Given the description of an element on the screen output the (x, y) to click on. 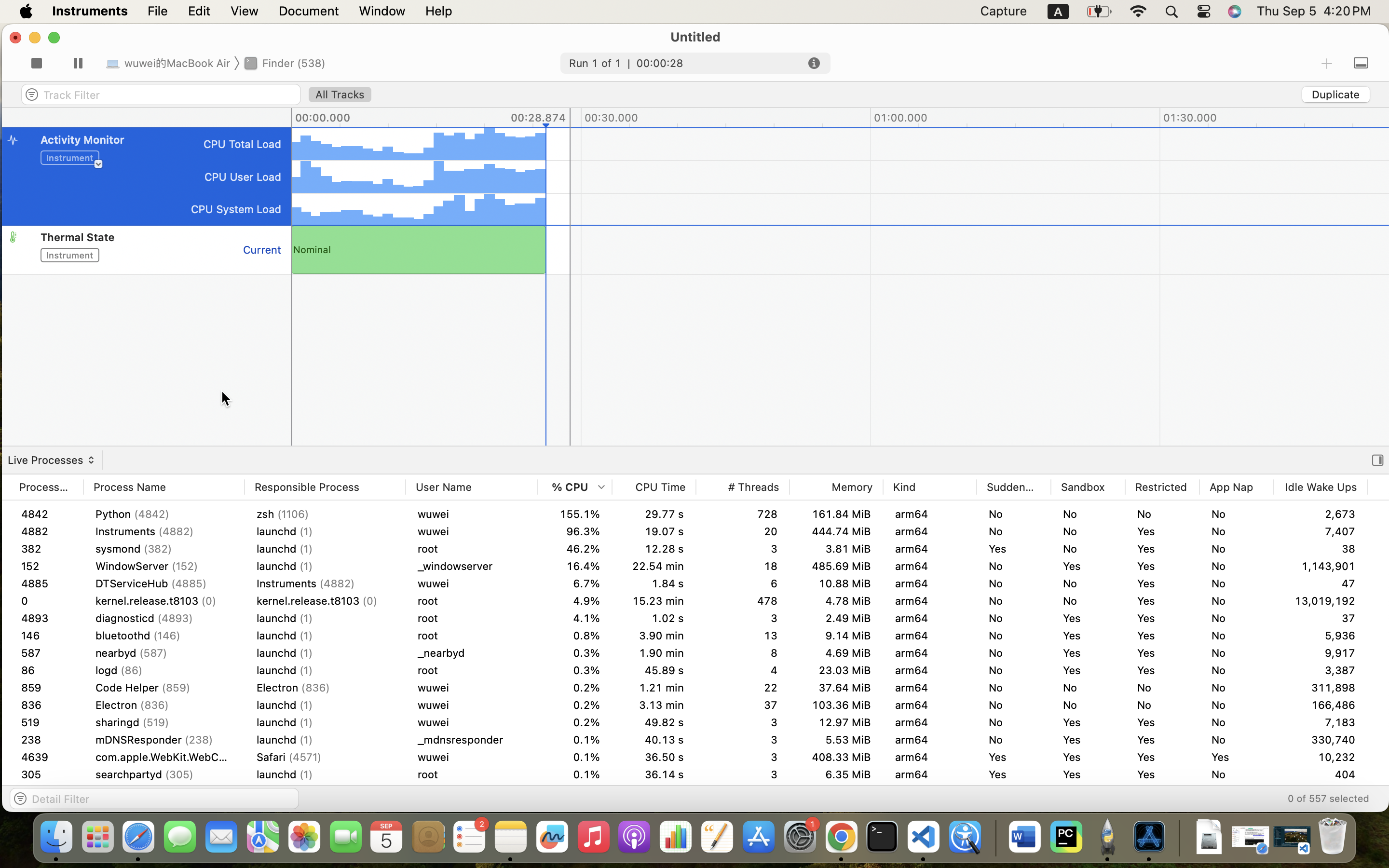
9.24 MiB Element type: AXStaticText (835, 635)
2 Element type: AXButton (36, 66)
Untitled Element type: AXStaticText (695, 36)
3,473 Element type: AXStaticText (1320, 513)
arm64 Element type: AXStaticText (929, 652)
